Given the description of an element on the screen output the (x, y) to click on. 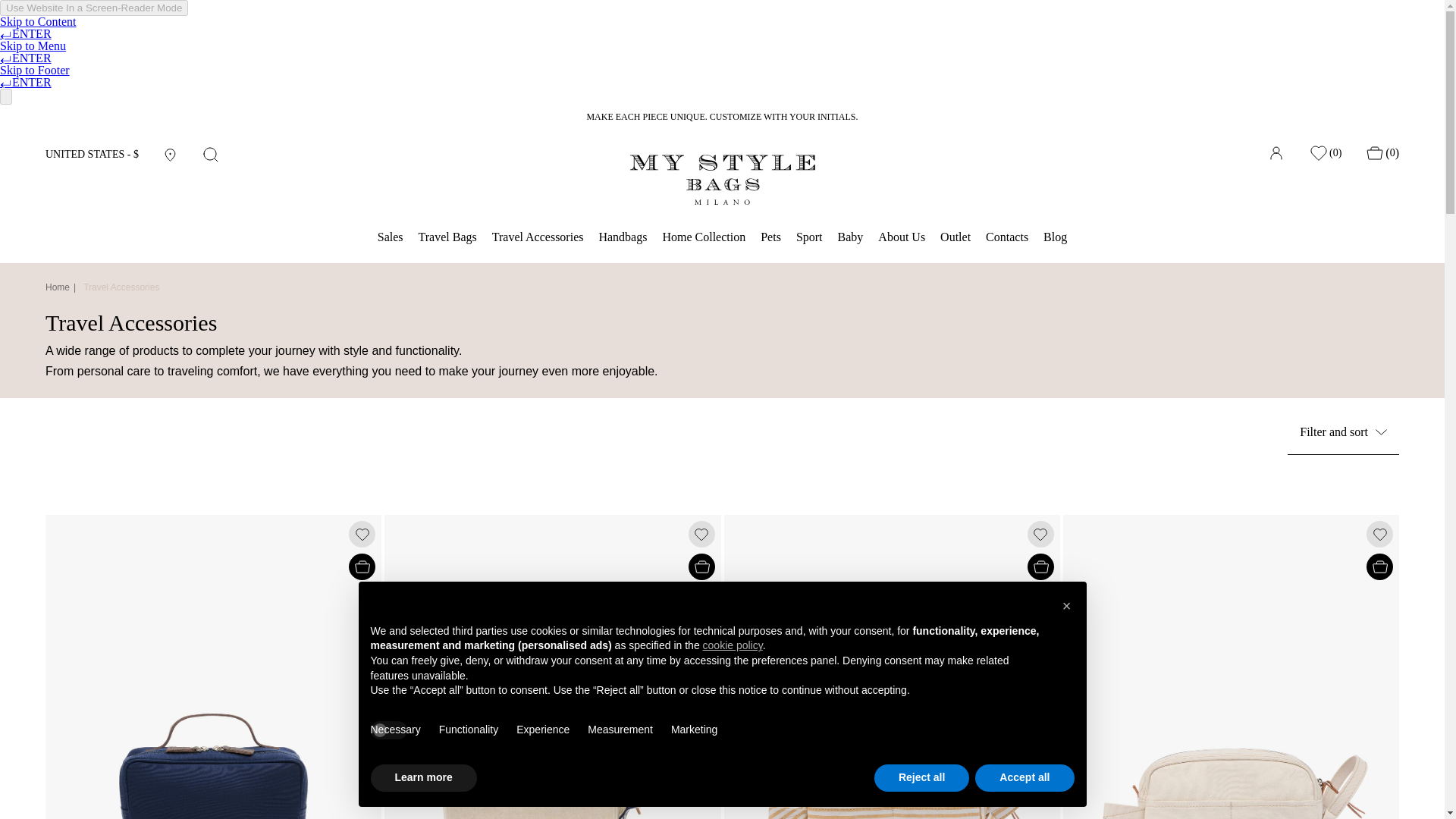
Store locator (170, 154)
TODO (57, 287)
true (387, 730)
Log in (1275, 153)
Wishlist (1324, 153)
Search (210, 154)
